Given the description of an element on the screen output the (x, y) to click on. 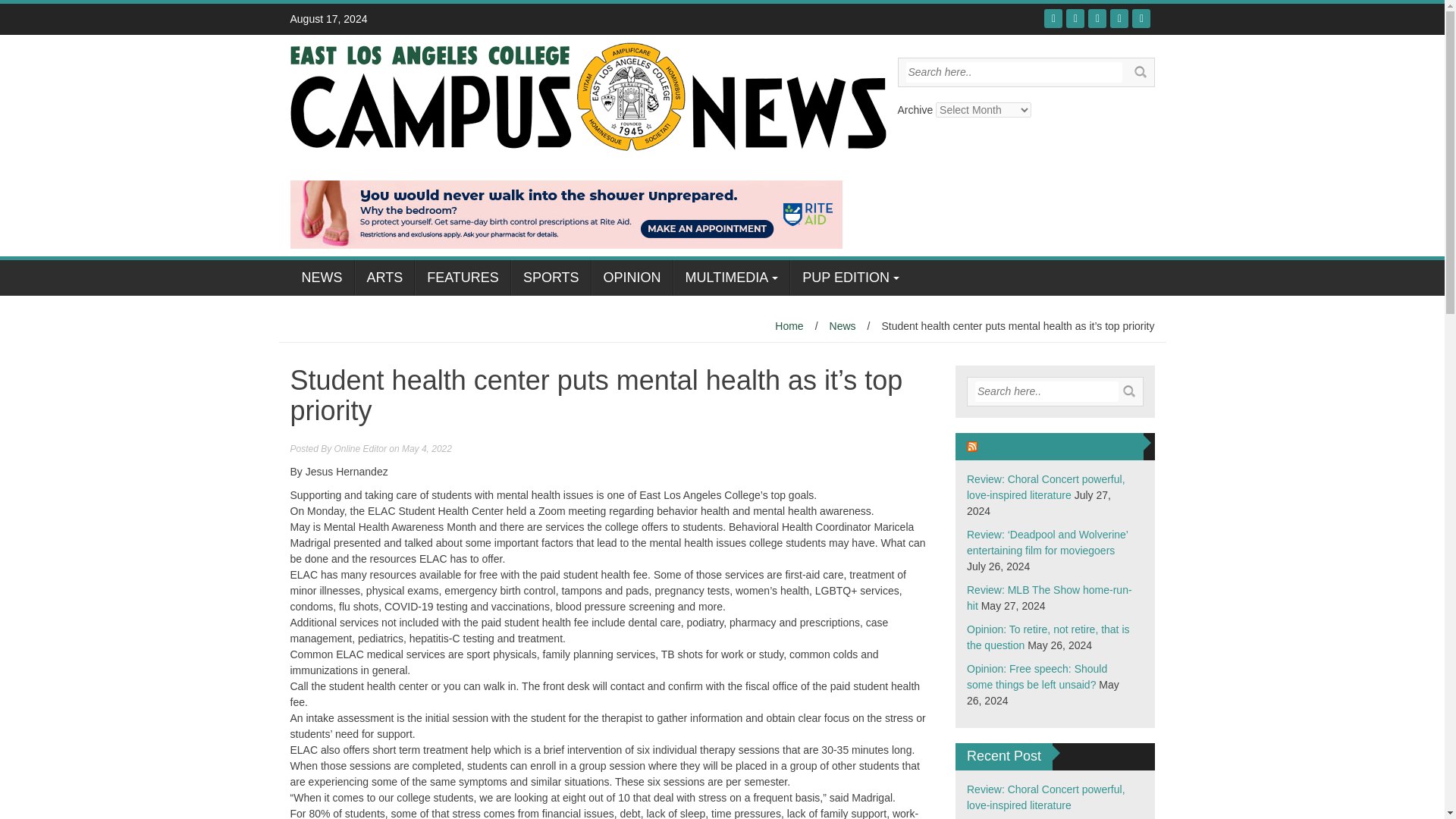
NEWS (321, 277)
OPINION (631, 277)
Instagram (1118, 18)
News (842, 326)
East Los Angeles College Campus News (587, 95)
Online Editor (360, 448)
Facebook (1052, 18)
Posts by Online Editor (360, 448)
Search here.. (1046, 391)
PUP EDITION (850, 277)
